Given the description of an element on the screen output the (x, y) to click on. 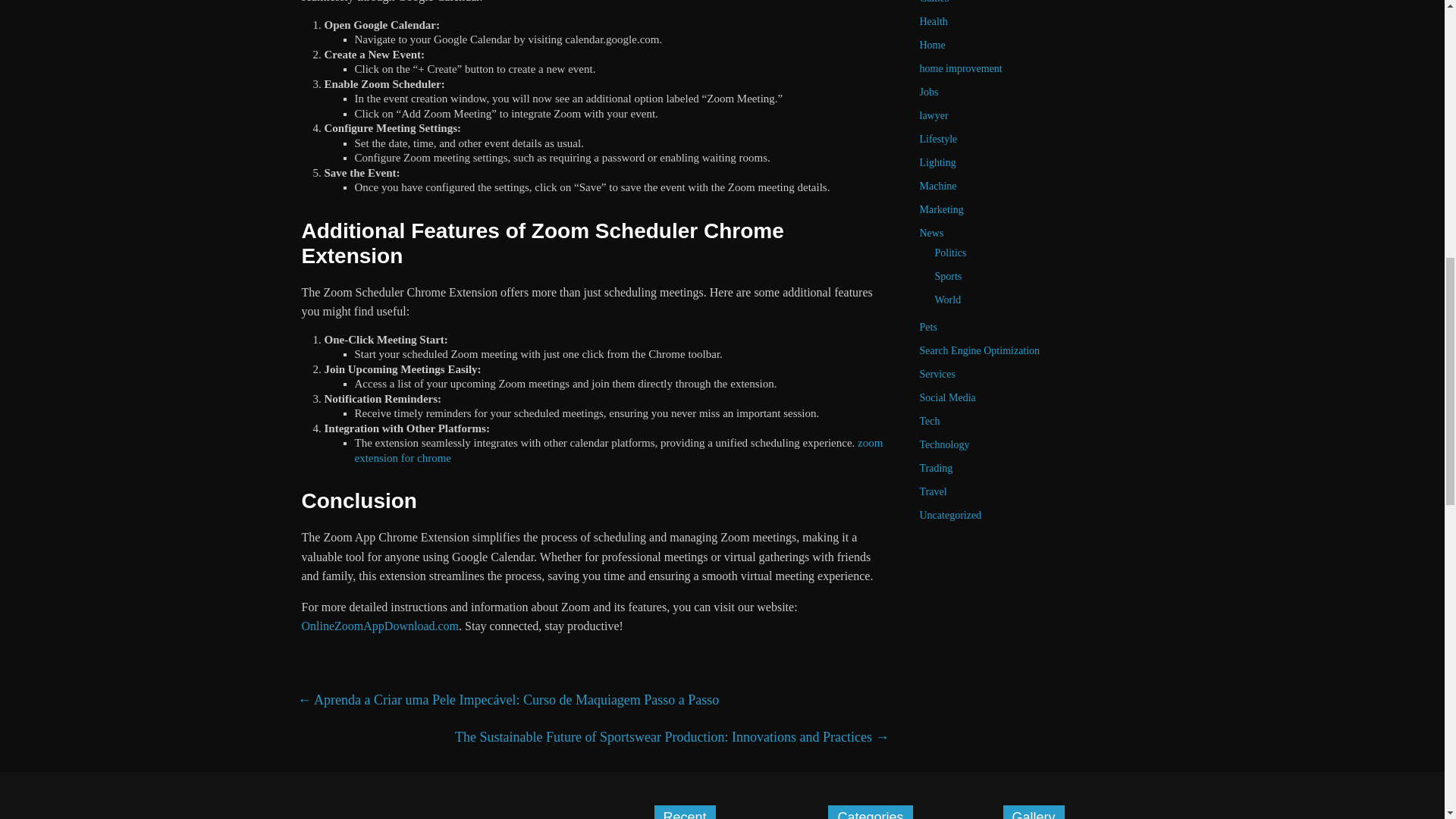
zoom extension for chrome (619, 450)
OnlineZoomAppDownload.com (380, 625)
